Given the description of an element on the screen output the (x, y) to click on. 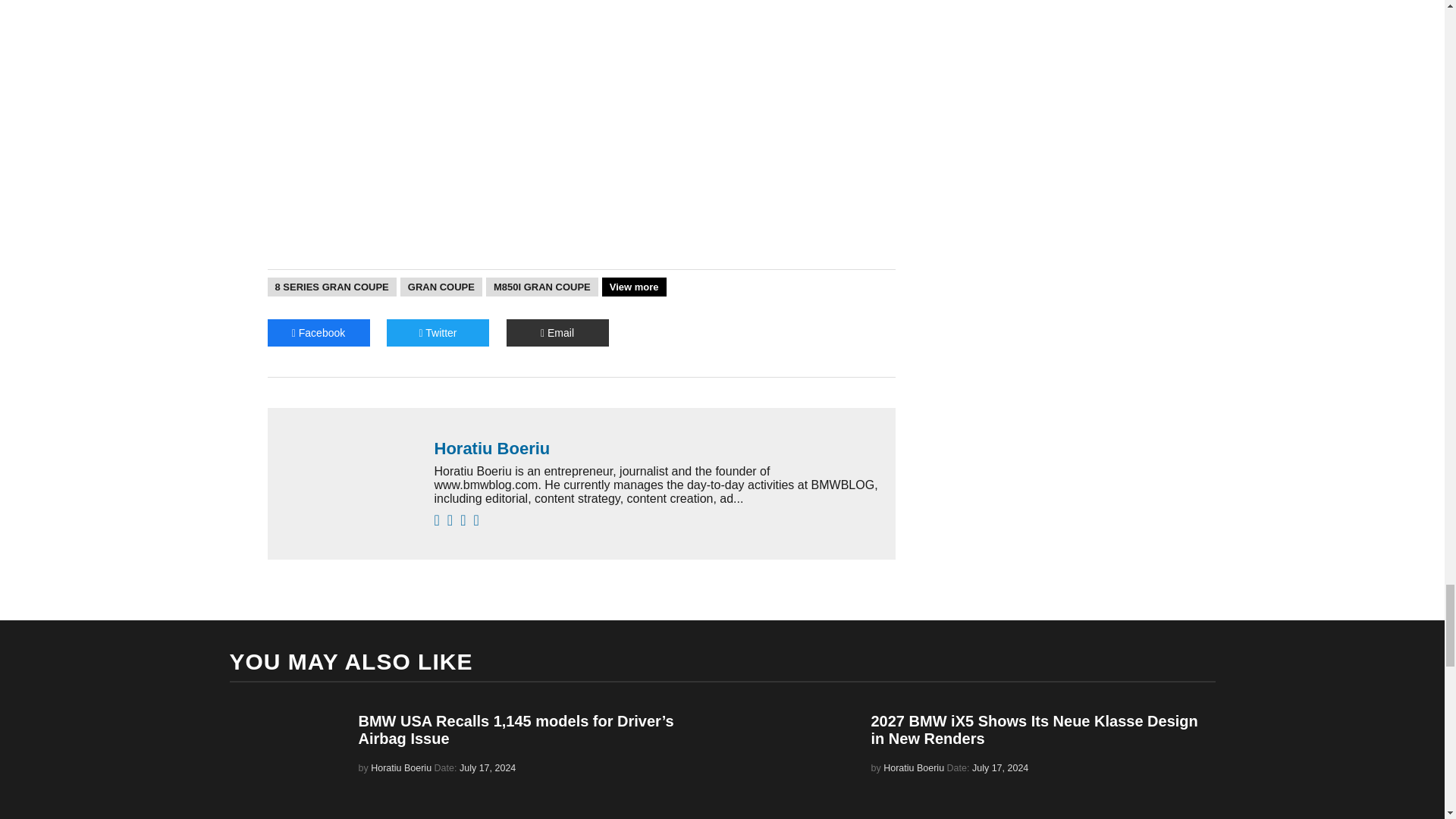
Facebook (317, 332)
Horatiu Boeriu (656, 448)
Twitter (438, 332)
